Given the description of an element on the screen output the (x, y) to click on. 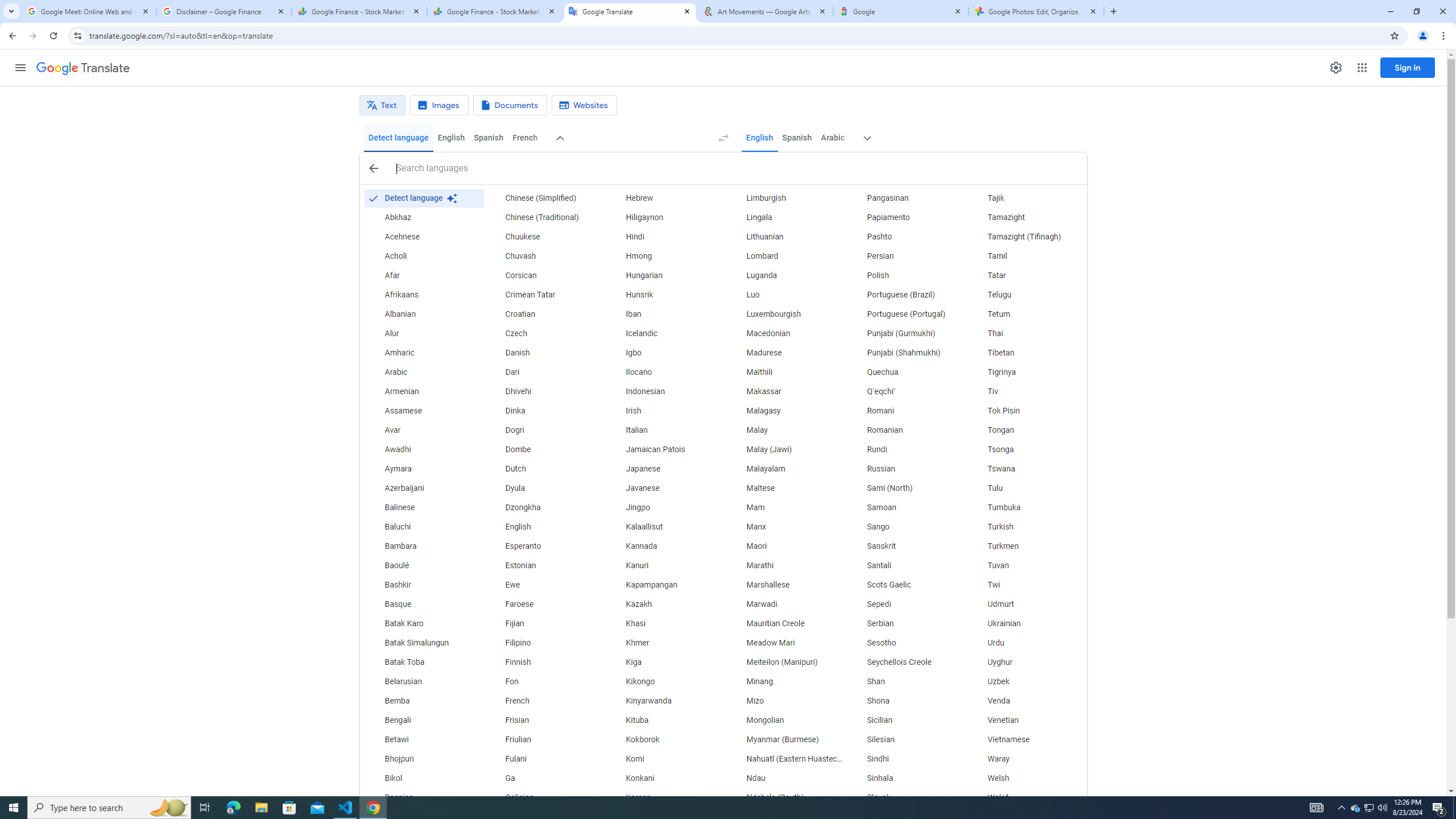
Portuguese (Brazil) (905, 294)
Welsh (1026, 778)
Frisian (544, 720)
Kiga (665, 662)
Danish (544, 352)
English (759, 137)
Persian (905, 256)
Icelandic (665, 334)
Italian (665, 430)
Tok Pisin (1026, 411)
Pashto (905, 236)
Madurese (785, 352)
Sesotho (905, 642)
Korean (665, 797)
Ukrainian (1026, 624)
